Given the description of an element on the screen output the (x, y) to click on. 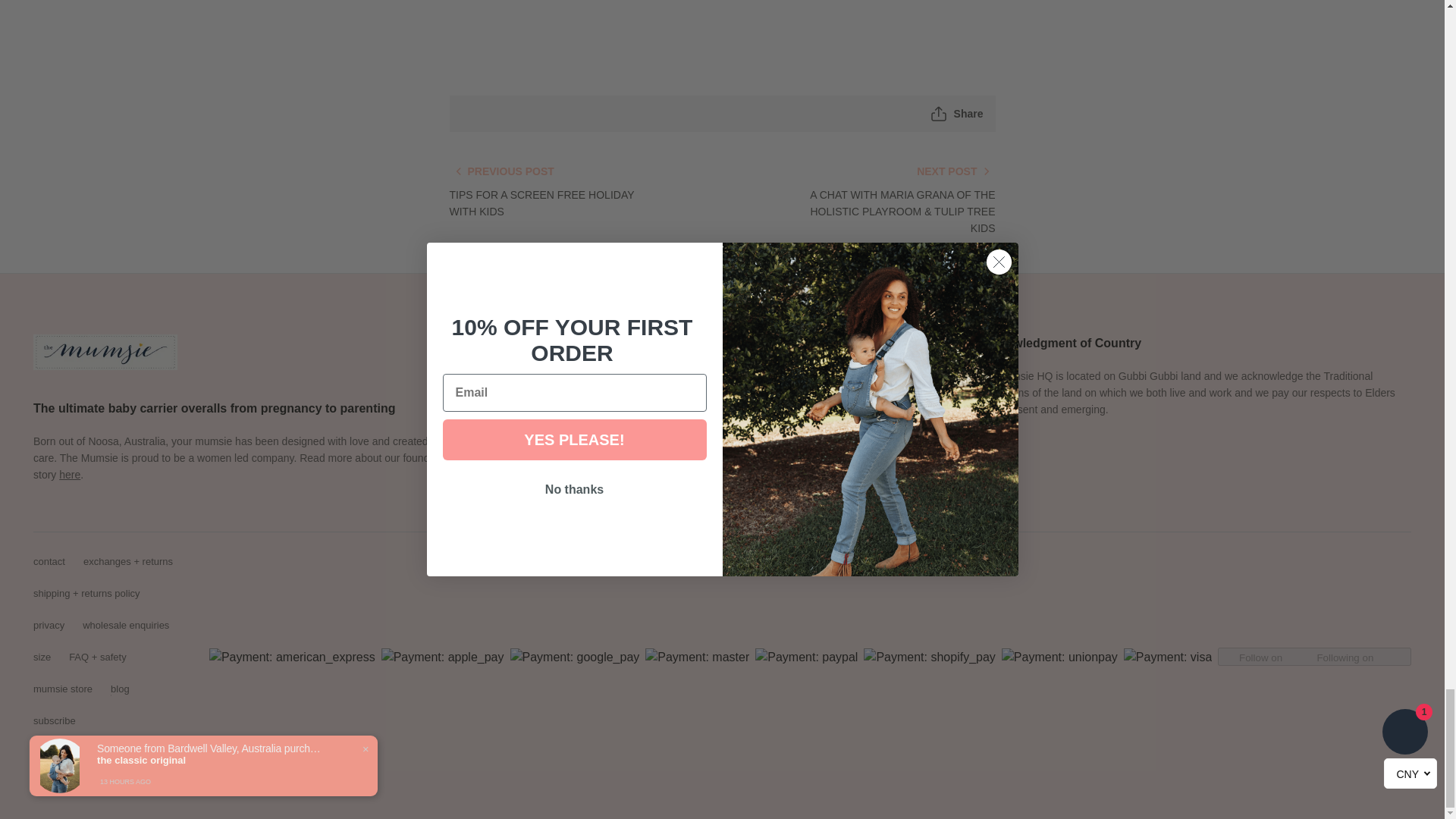
subscribe (54, 721)
JUGGLING MAMA (69, 474)
blog (119, 689)
Terms of service (225, 789)
size (41, 657)
PREVIOUS POST (500, 171)
contact (49, 561)
wholesale enquiries (125, 625)
here (69, 474)
privacy (48, 625)
mumsie store (63, 689)
Privacy policy (141, 789)
Refund policy (63, 789)
NEXT POST (955, 171)
